Given the description of an element on the screen output the (x, y) to click on. 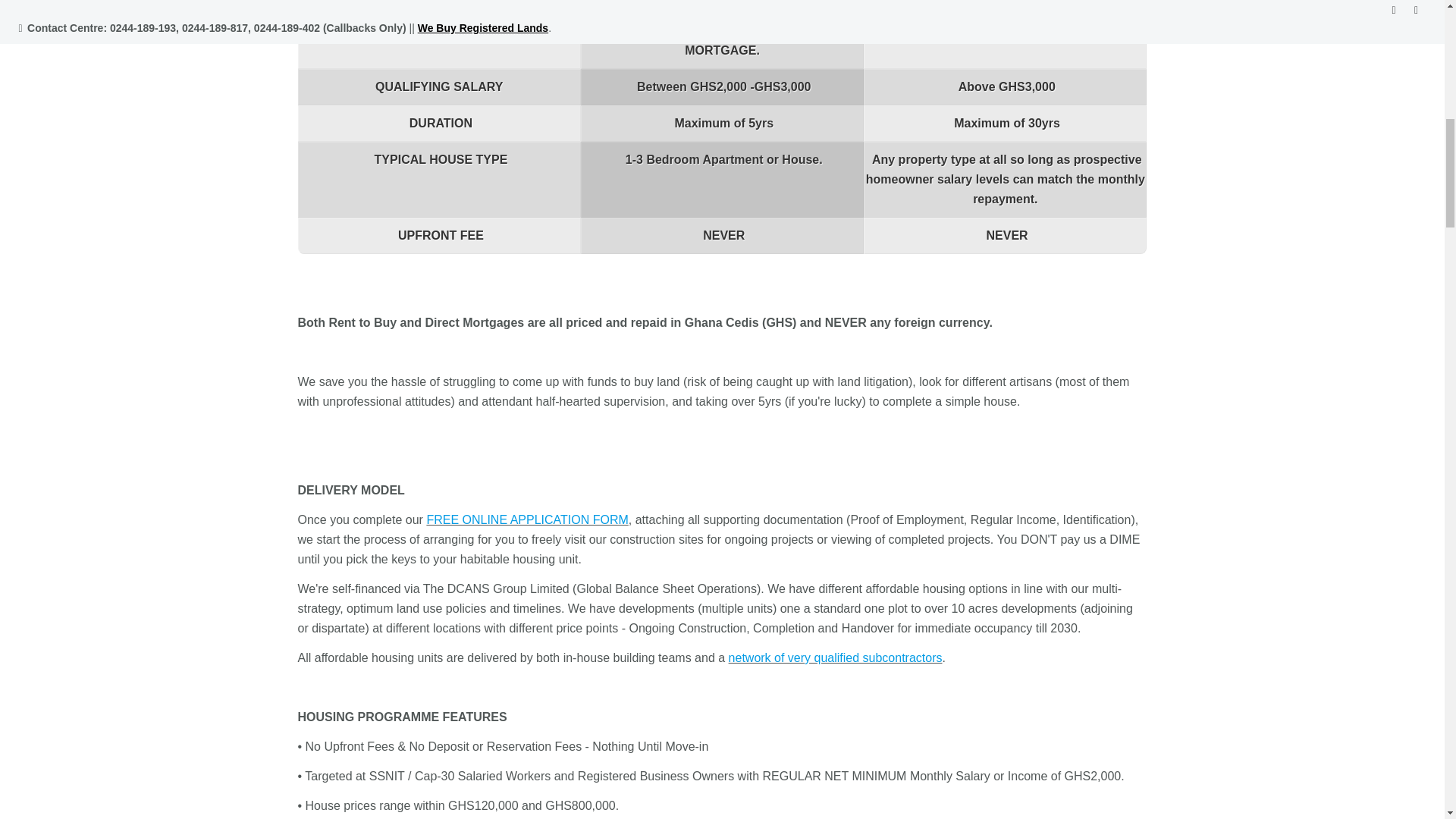
Back to Top (1405, 25)
